Given the description of an element on the screen output the (x, y) to click on. 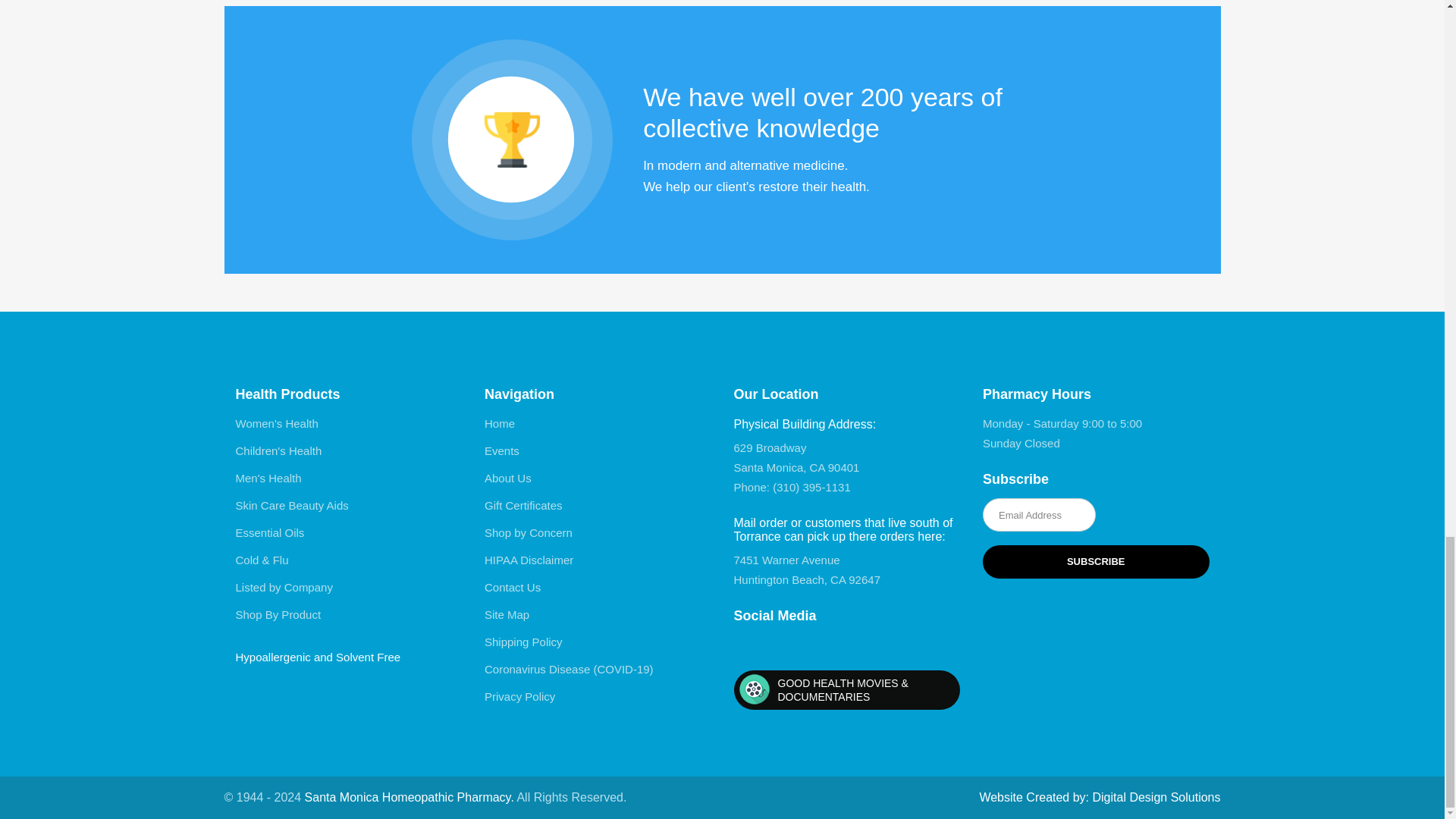
Subscribe (1095, 561)
